Given the description of an element on the screen output the (x, y) to click on. 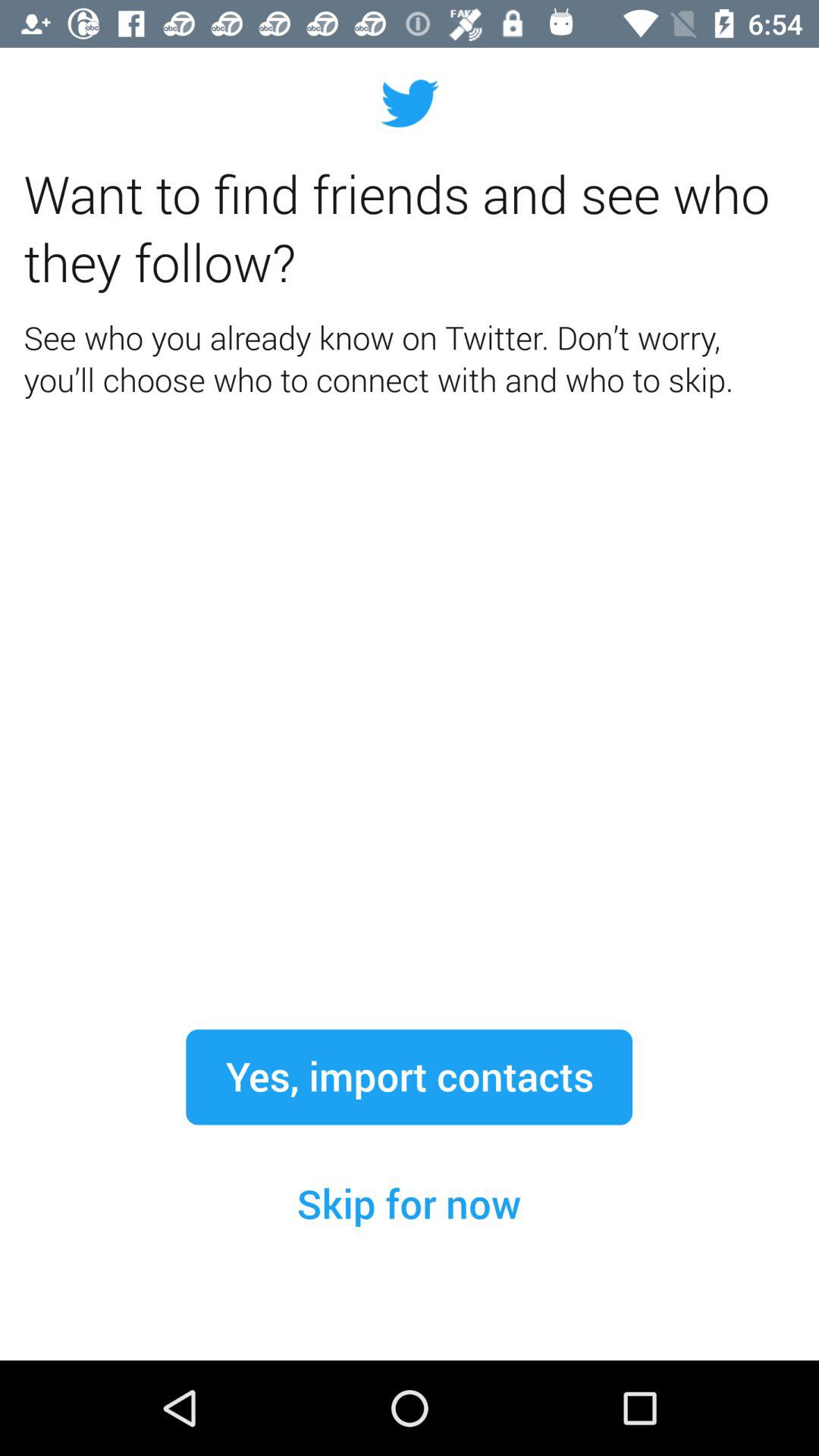
turn on item above skip for now icon (408, 1076)
